Given the description of an element on the screen output the (x, y) to click on. 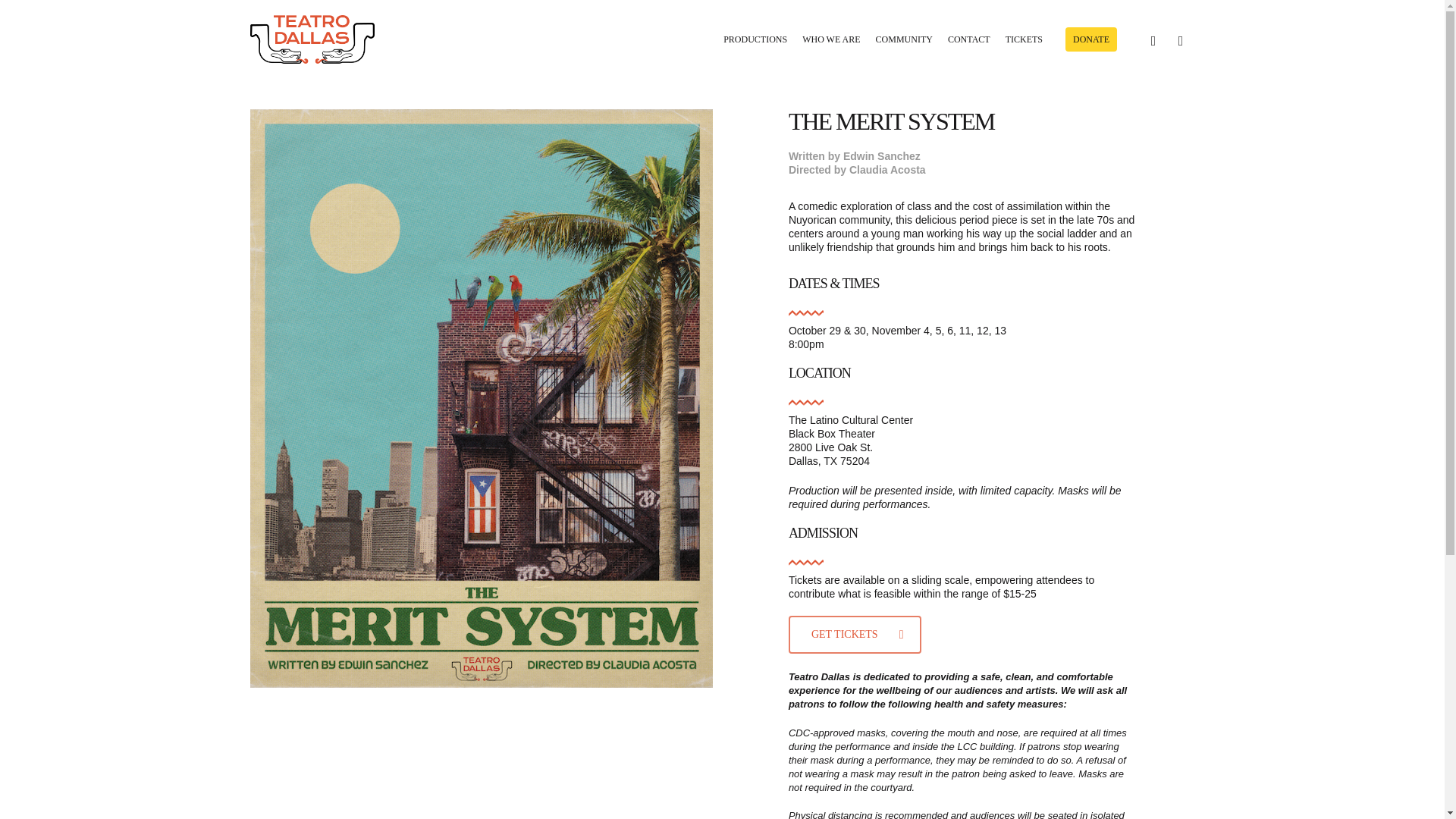
CONTACT (968, 39)
About (830, 39)
COMMUNITY (903, 39)
GET TICKETS (855, 634)
INSTAGRAM (1180, 38)
DONATE (1090, 39)
Donate (1090, 39)
Contact (968, 39)
Education (903, 39)
FACEBOOK (1153, 38)
Productions (755, 39)
PRODUCTIONS (755, 39)
WHO WE ARE (830, 39)
TICKETS (1023, 39)
